Given the description of an element on the screen output the (x, y) to click on. 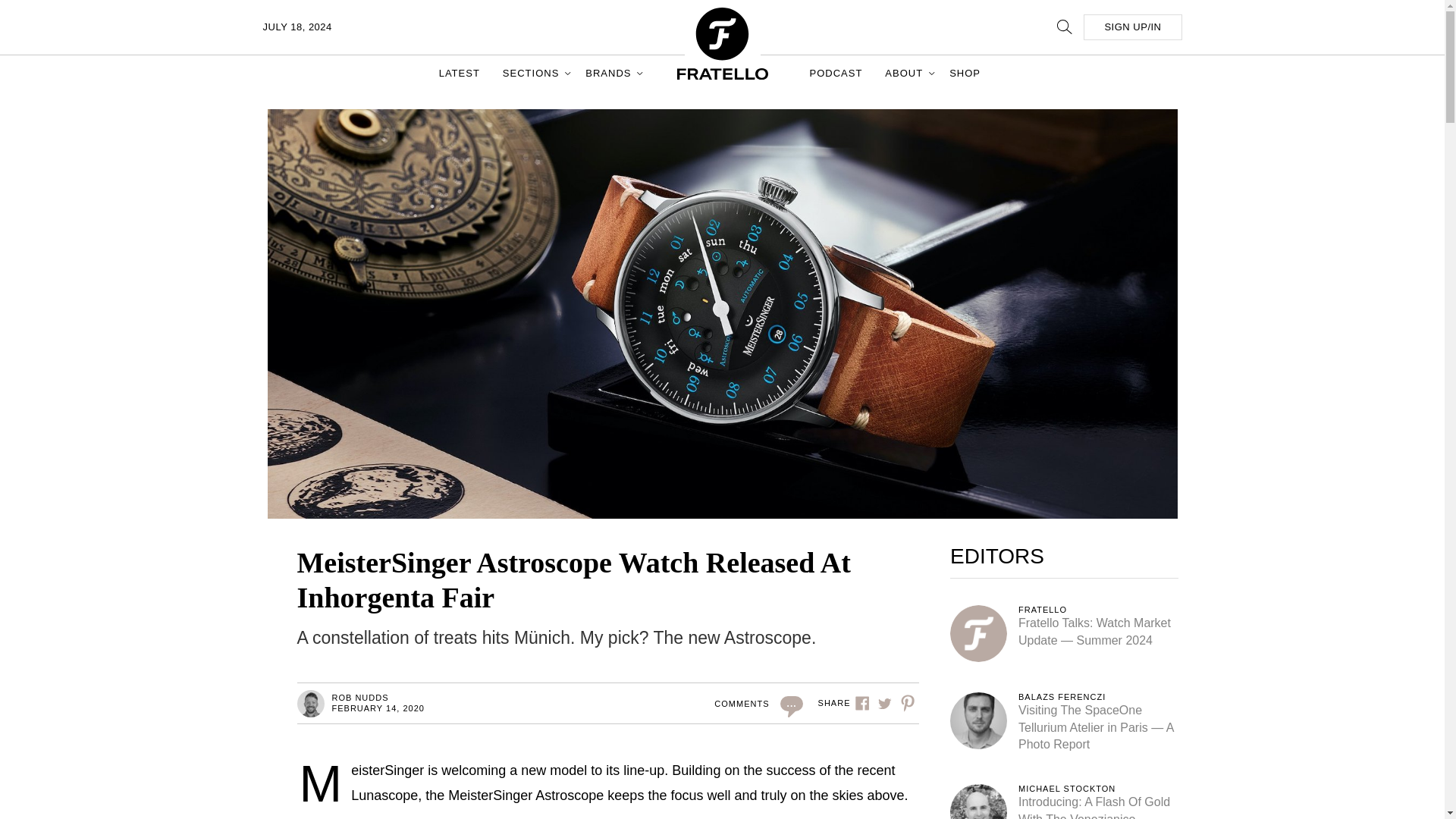
BRANDS (609, 72)
SECTIONS (532, 72)
LATEST (460, 72)
